Given the description of an element on the screen output the (x, y) to click on. 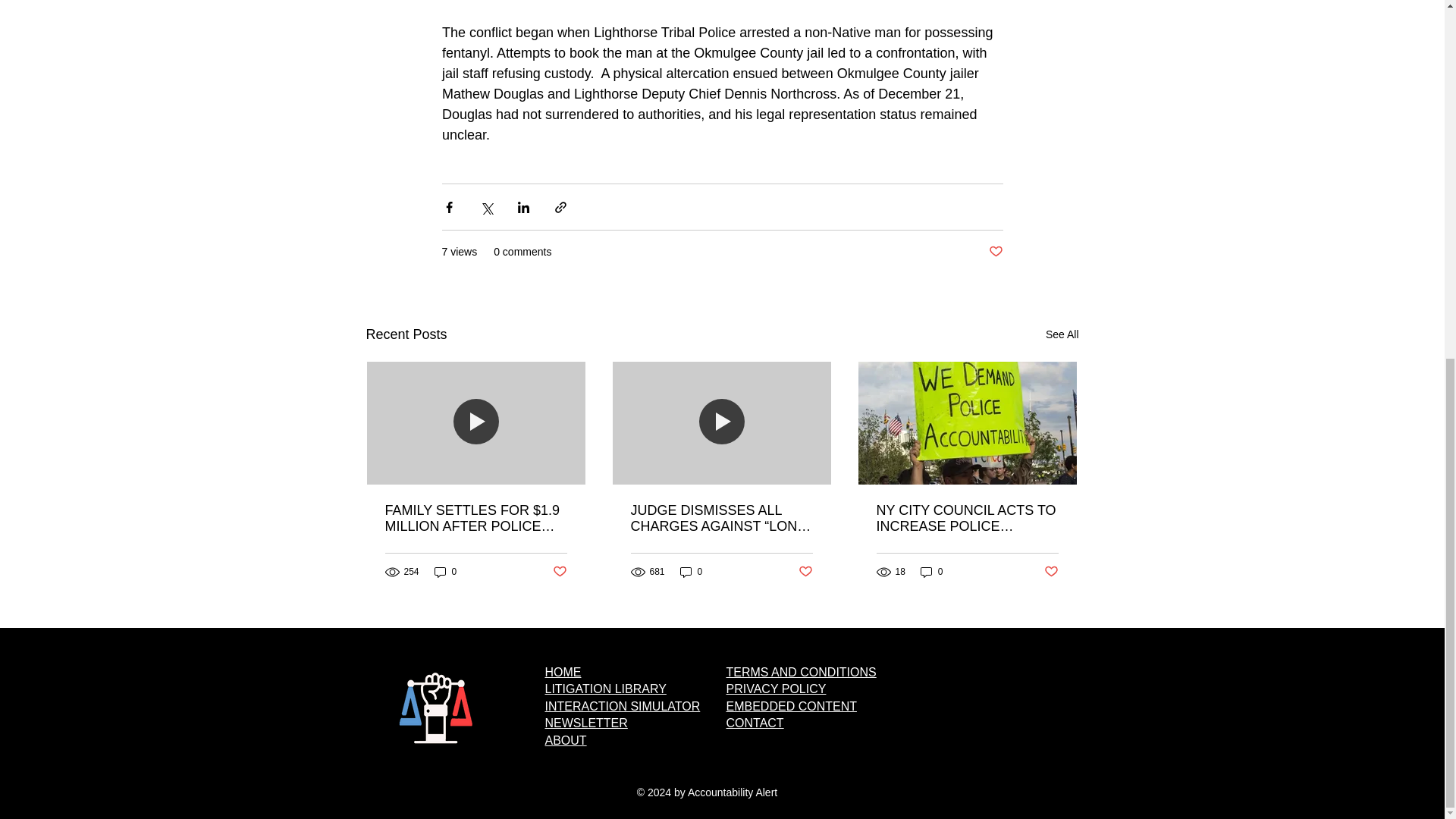
Post not marked as liked (1050, 571)
0 (691, 571)
0 (445, 571)
Post not marked as liked (995, 252)
Post not marked as liked (558, 571)
See All (1061, 334)
NY CITY COUNCIL ACTS TO INCREASE POLICE ACCOUNTABILITY (967, 518)
aalogo.png (435, 708)
0 (931, 571)
Post not marked as liked (804, 571)
